Given the description of an element on the screen output the (x, y) to click on. 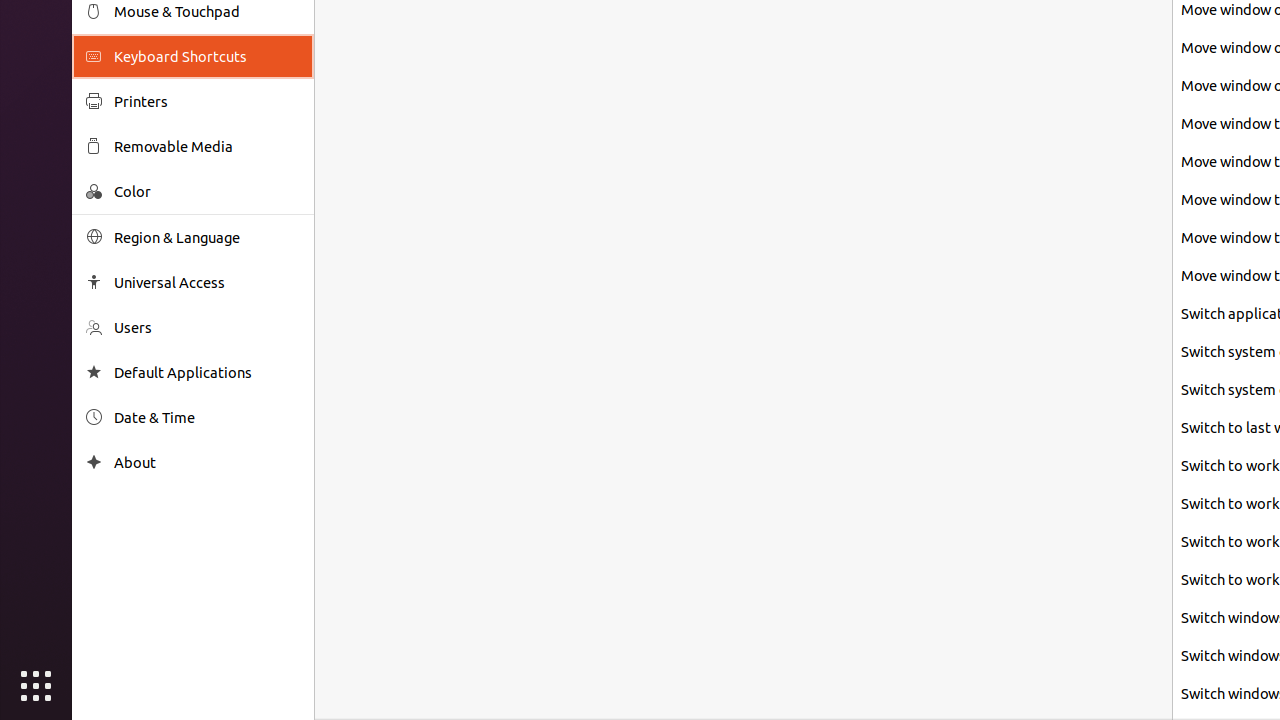
Printers Element type: label (207, 101)
Universal Access Element type: label (207, 282)
Date & Time Element type: label (207, 417)
Removable Media Element type: label (207, 146)
